Given the description of an element on the screen output the (x, y) to click on. 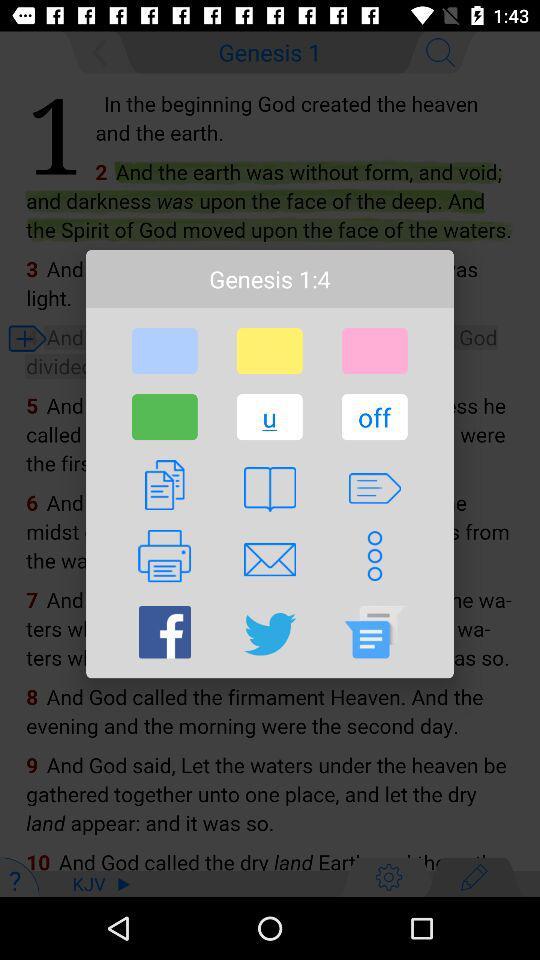
open the item below the genesis 1:4 (164, 351)
